Given the description of an element on the screen output the (x, y) to click on. 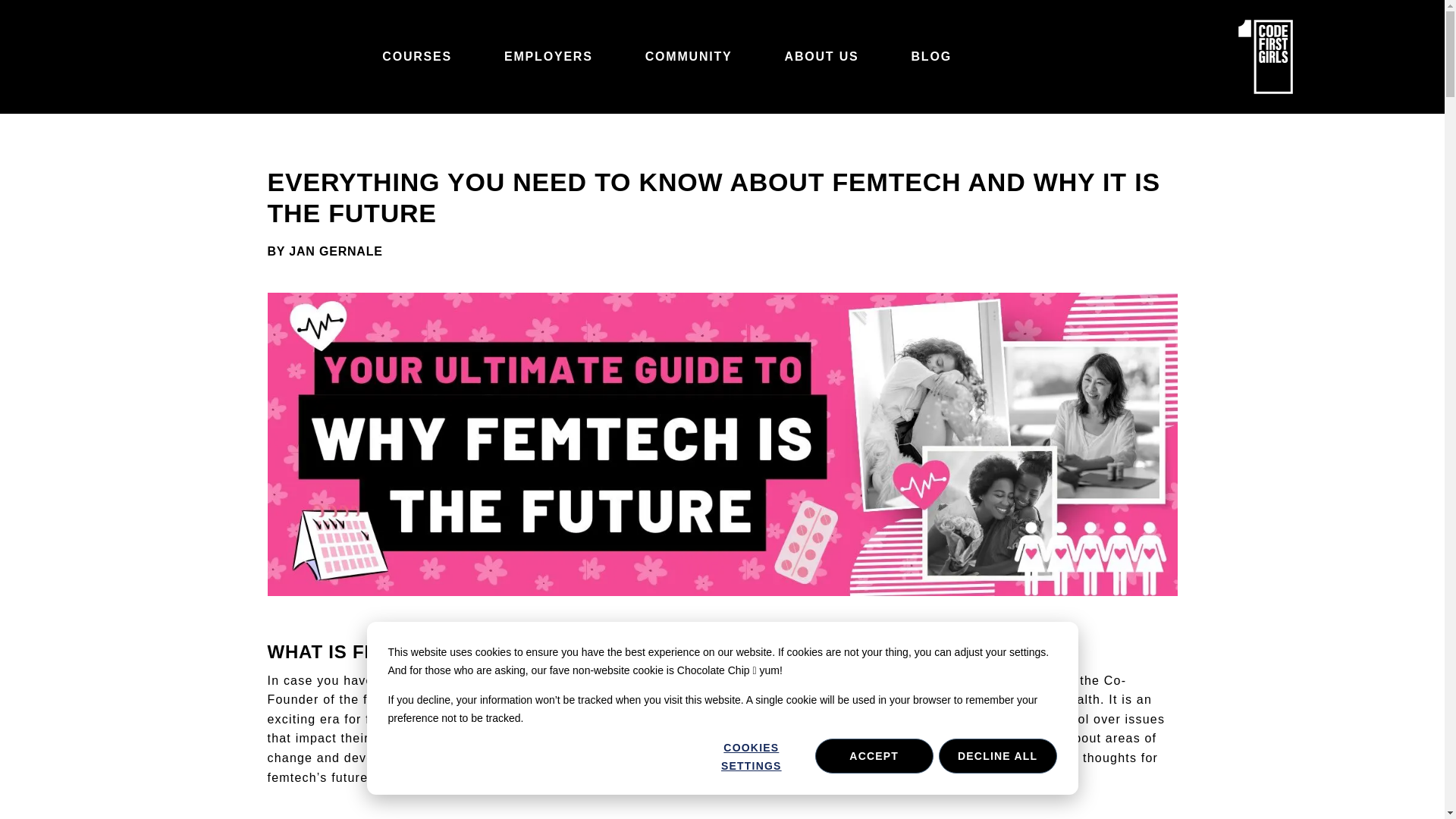
EMPLOYERS (552, 56)
ABOUT US (826, 56)
COURSES (420, 56)
COMMUNITY (692, 56)
